Given the description of an element on the screen output the (x, y) to click on. 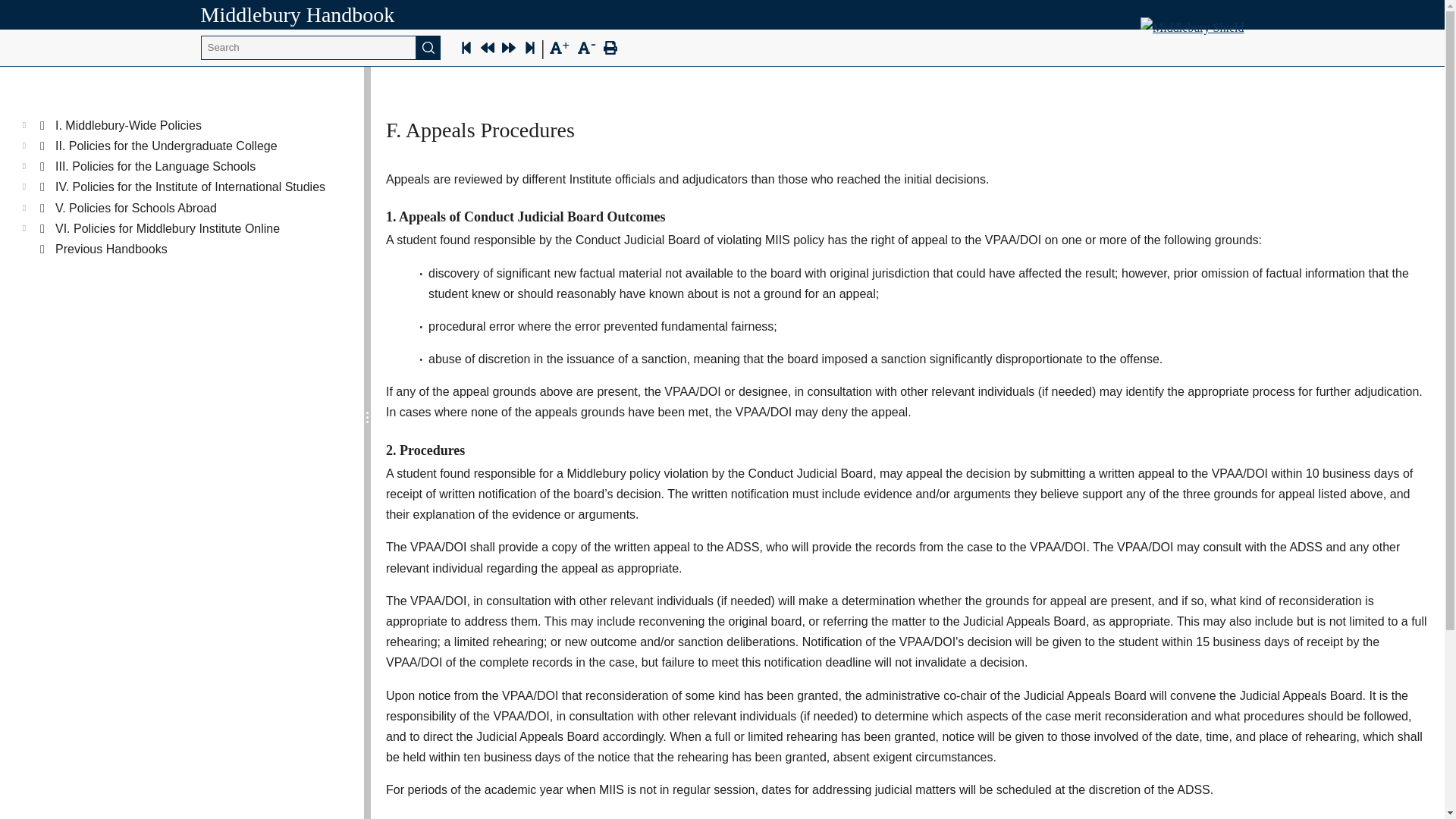
Middlebury Handbook (297, 14)
Toggle (23, 142)
Toggle (23, 122)
Toggle (23, 163)
Toggle (23, 225)
Search (428, 47)
Toggle (23, 183)
Toggle (23, 205)
